Given the description of an element on the screen output the (x, y) to click on. 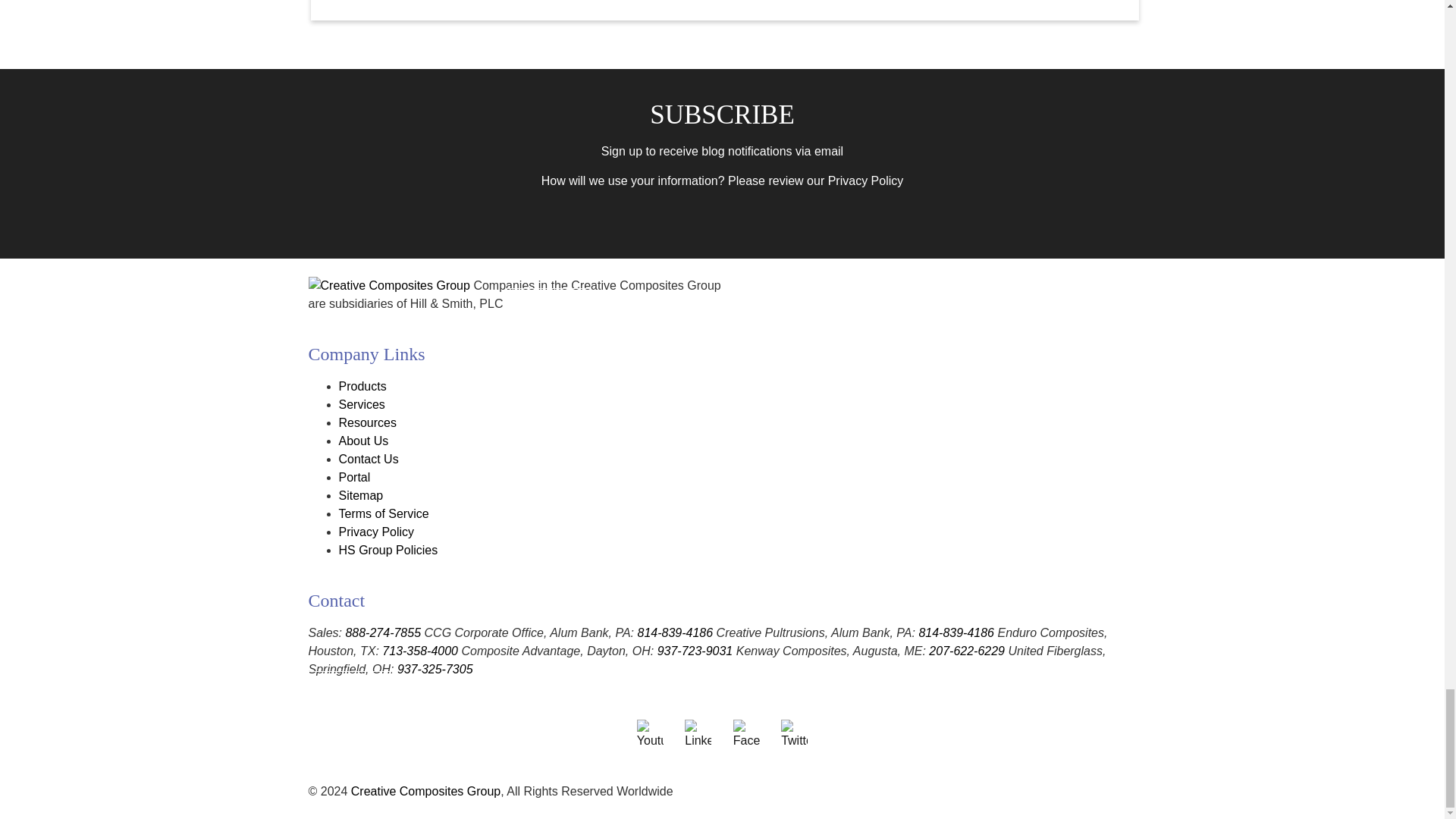
Youtube (650, 734)
Creative Composites Group (425, 790)
Linkedin (697, 734)
Twitter  (794, 734)
Facebook (746, 734)
Creative Composites Group (387, 285)
